Given the description of an element on the screen output the (x, y) to click on. 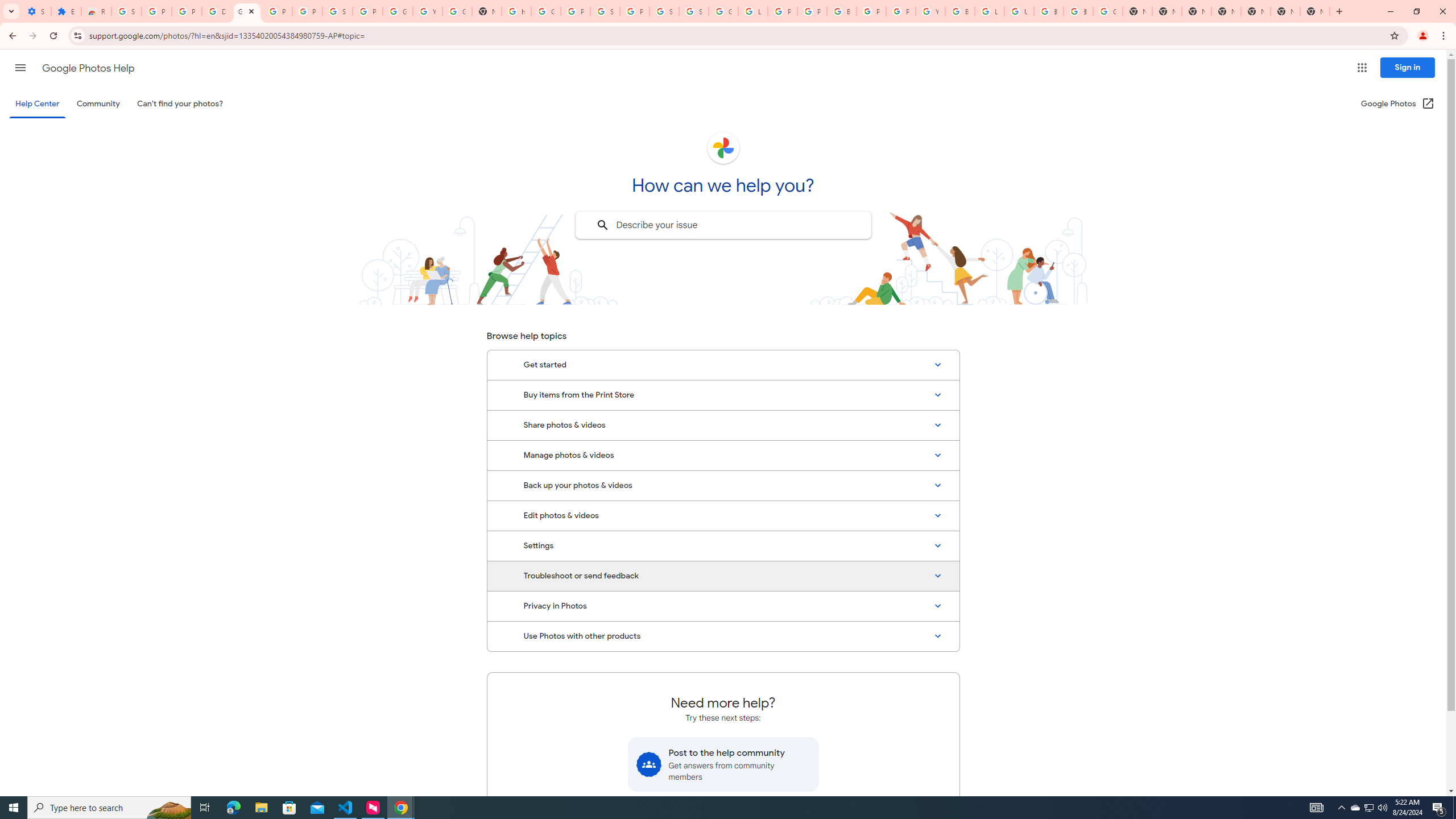
Manage photos & videos (722, 455)
